Given the description of an element on the screen output the (x, y) to click on. 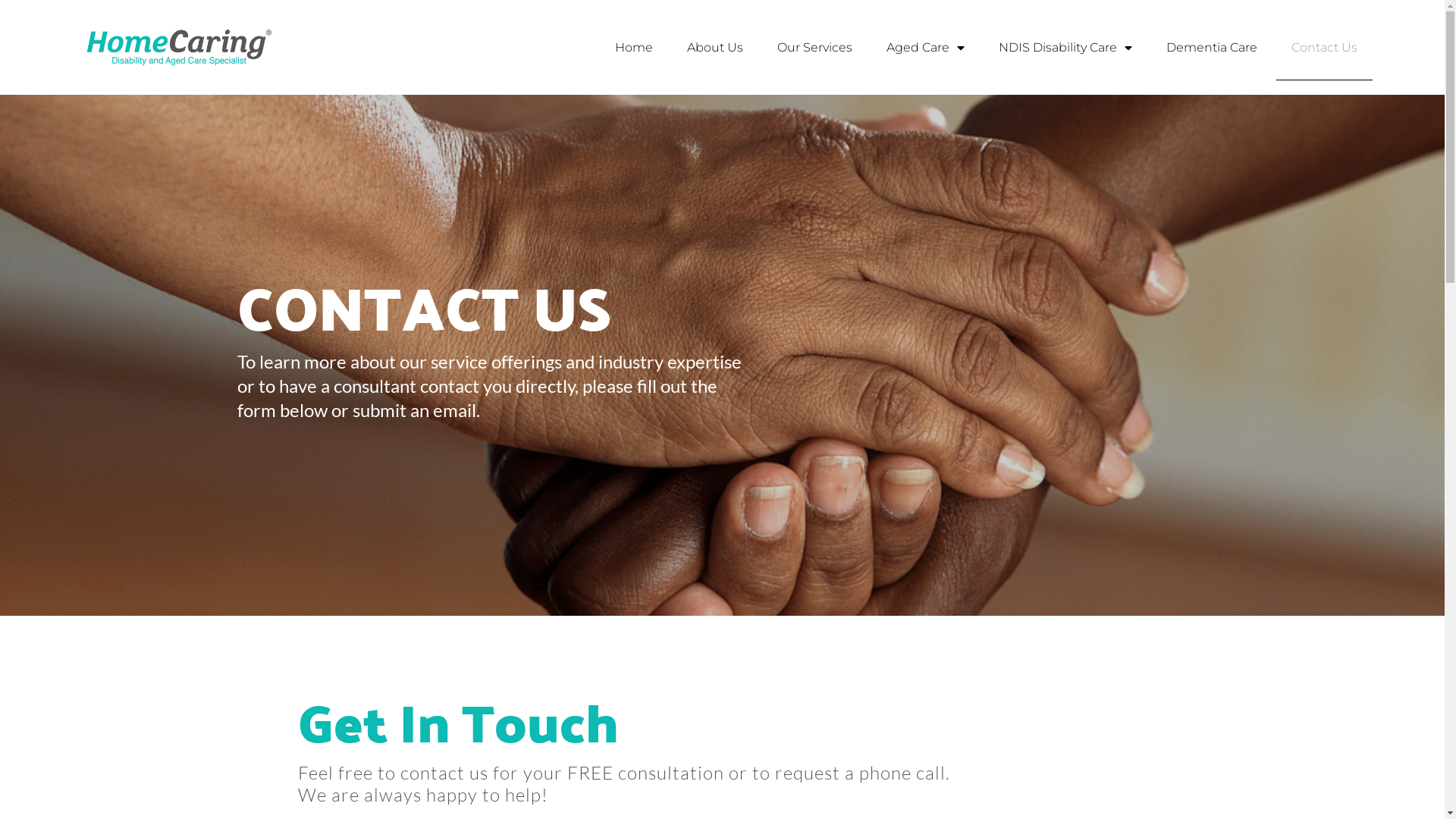
Contact Us Element type: text (1324, 47)
Aged Care Element type: text (925, 47)
NDIS Disability Care Element type: text (1065, 47)
Dementia Care Element type: text (1211, 47)
Our Services Element type: text (814, 47)
Home Element type: text (633, 47)
About Us Element type: text (714, 47)
